Given the description of an element on the screen output the (x, y) to click on. 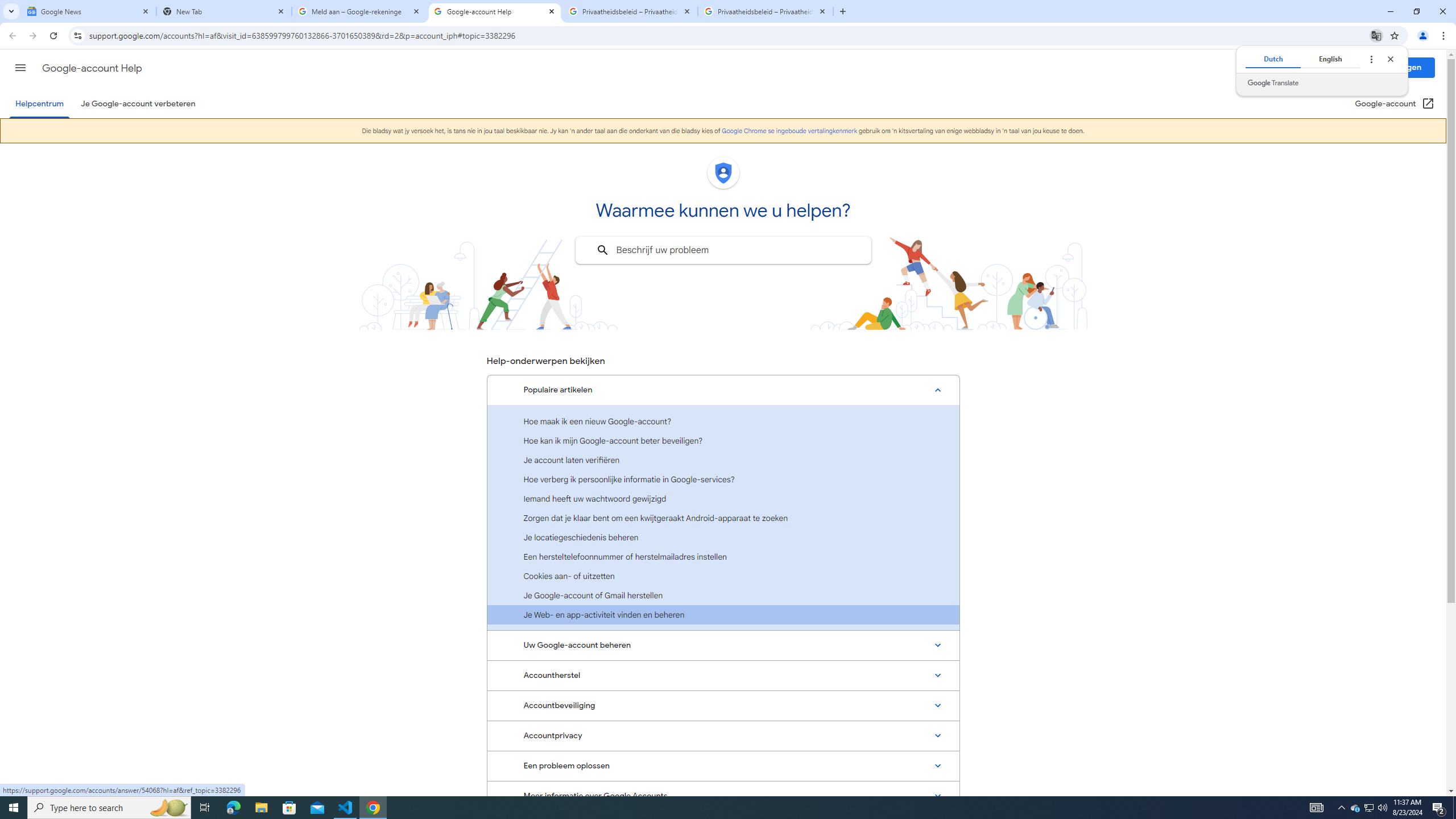
Uw Google-account beheren (722, 645)
Een probleem oplossen (722, 765)
Accountbeveiliging (722, 705)
Iemand heeft uw wachtwoord gewijzigd (722, 498)
Je Web- en app-activiteit vinden en beheren (722, 614)
